Given the description of an element on the screen output the (x, y) to click on. 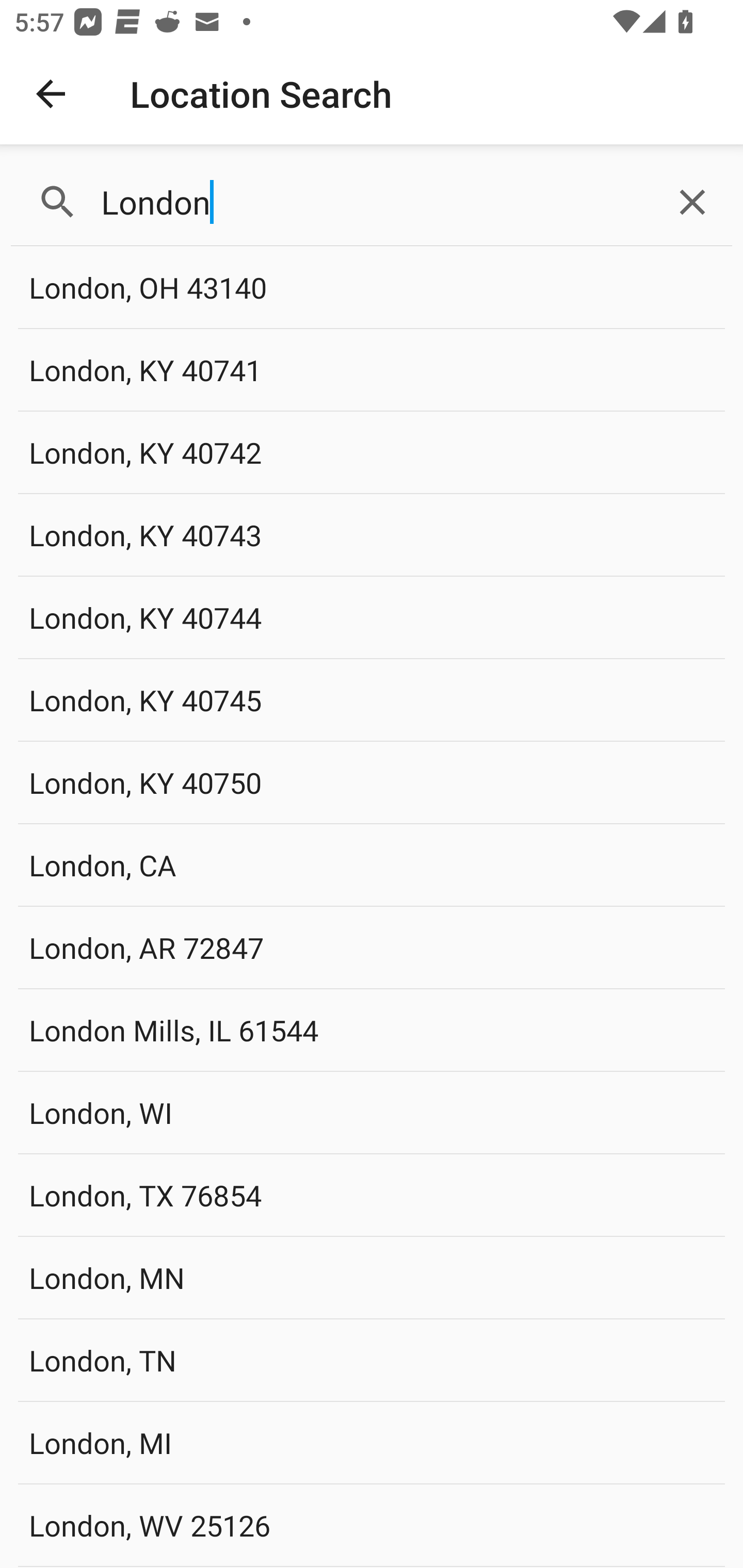
Navigate up (50, 93)
Clear query (692, 202)
London (371, 202)
London, OH 43140 (371, 287)
London, KY 40741 (371, 369)
London, KY 40742 (371, 451)
London, KY 40743 (371, 534)
London, KY 40744 (371, 616)
London, KY 40745 (371, 699)
London, KY 40750 (371, 782)
London, CA (371, 864)
London, AR 72847 (371, 947)
London Mills, IL 61544 (371, 1029)
London, WI (371, 1112)
London, TX 76854 (371, 1194)
London, MN (371, 1276)
London, TN (371, 1359)
London, MI (371, 1442)
London, WV 25126 (371, 1524)
